Given the description of an element on the screen output the (x, y) to click on. 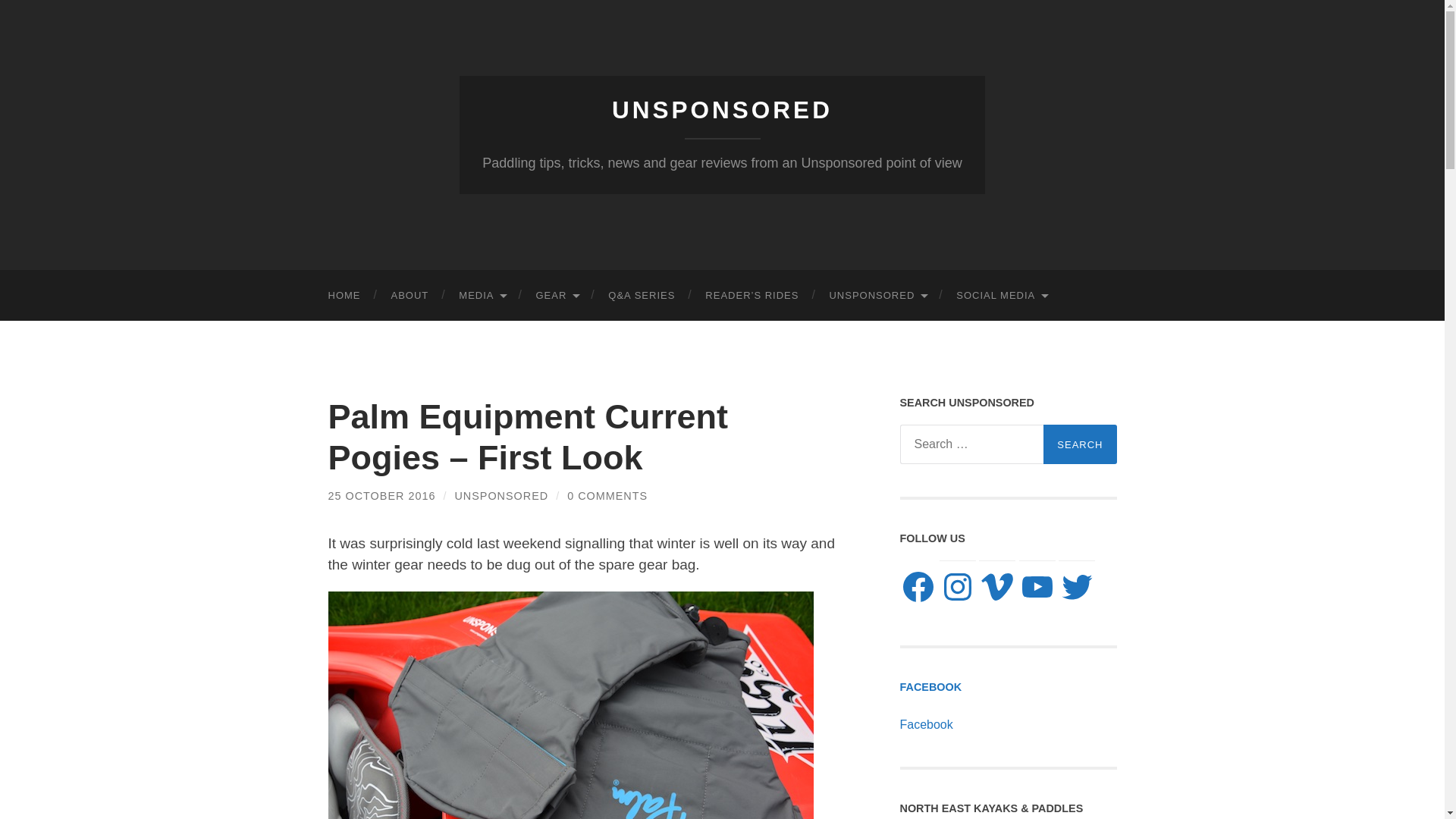
MEDIA (481, 295)
SOCIAL MEDIA (1000, 295)
HOME (344, 295)
GEAR (555, 295)
UNSPONSORED (876, 295)
UNSPONSORED (721, 109)
Posts by Unsponsored (501, 495)
ABOUT (409, 295)
Search (1079, 444)
Search (1079, 444)
